Given the description of an element on the screen output the (x, y) to click on. 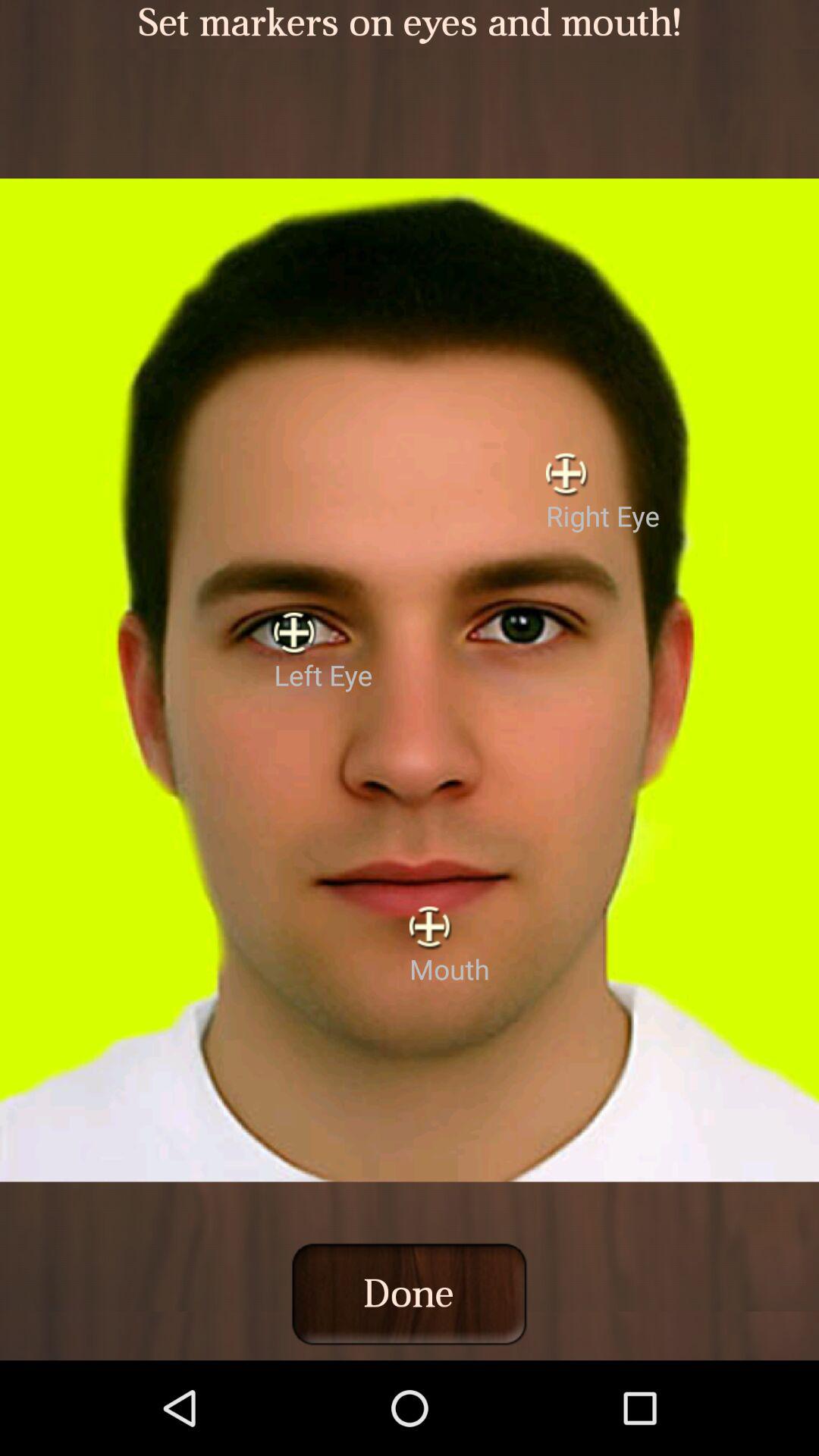
choose done icon (409, 1293)
